Given the description of an element on the screen output the (x, y) to click on. 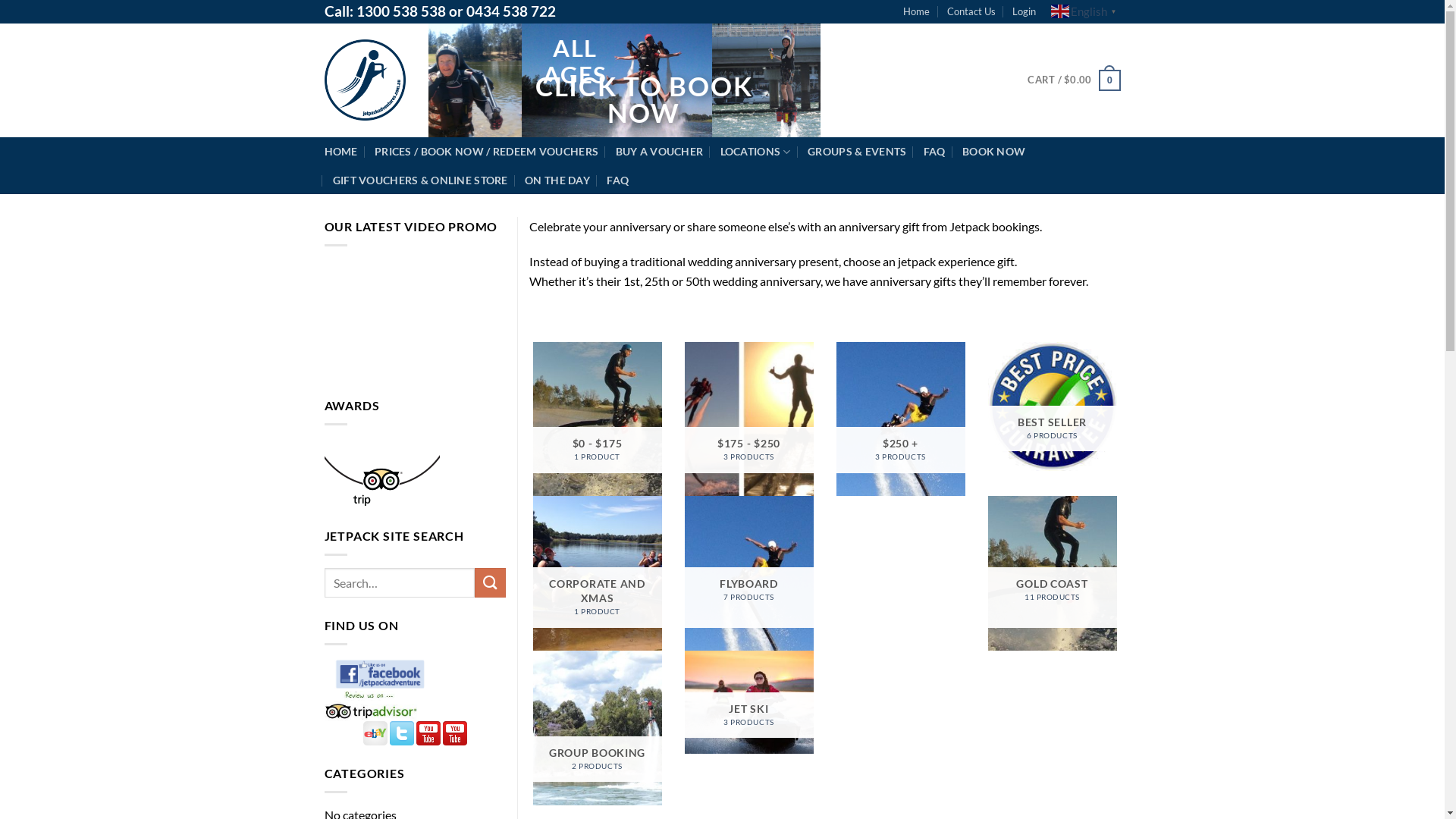
GROUP BOOKING
2 PRODUCTS Element type: text (596, 727)
FAQ Element type: text (934, 151)
$250 +
3 PRODUCTS Element type: text (899, 419)
FLYBOARD
7 PRODUCTS Element type: text (748, 572)
Australia's Largest Hydro jet hire since 2012 Element type: hover (364, 79)
JET SKI
3 PRODUCTS Element type: text (748, 701)
PRICES / BOOK NOW / REDEEM VOUCHERS Element type: text (486, 151)
BUY A VOUCHER Element type: text (659, 151)
CART / $0.00
0 Element type: text (1073, 80)
GOLD COAST
11 PRODUCTS Element type: text (1051, 572)
$0 - $175
1 PRODUCT Element type: text (596, 419)
Home Element type: text (916, 11)
Skip to content Element type: text (0, 0)
BOOK NOW Element type: text (993, 151)
Contact Us Element type: text (971, 11)
CORPORATE AND XMAS
1 PRODUCT Element type: text (596, 572)
GROUPS & EVENTS Element type: text (856, 151)
Login Element type: text (1023, 11)
HOME Element type: text (340, 151)
FAQ Element type: text (617, 180)
GIFT VOUCHERS & ONLINE STORE Element type: text (420, 180)
$175 - $250
3 PRODUCTS Element type: text (748, 419)
ON THE DAY Element type: text (556, 180)
BEST SELLER
6 PRODUCTS Element type: text (1051, 406)
LOCATIONS Element type: text (755, 151)
